Given the description of an element on the screen output the (x, y) to click on. 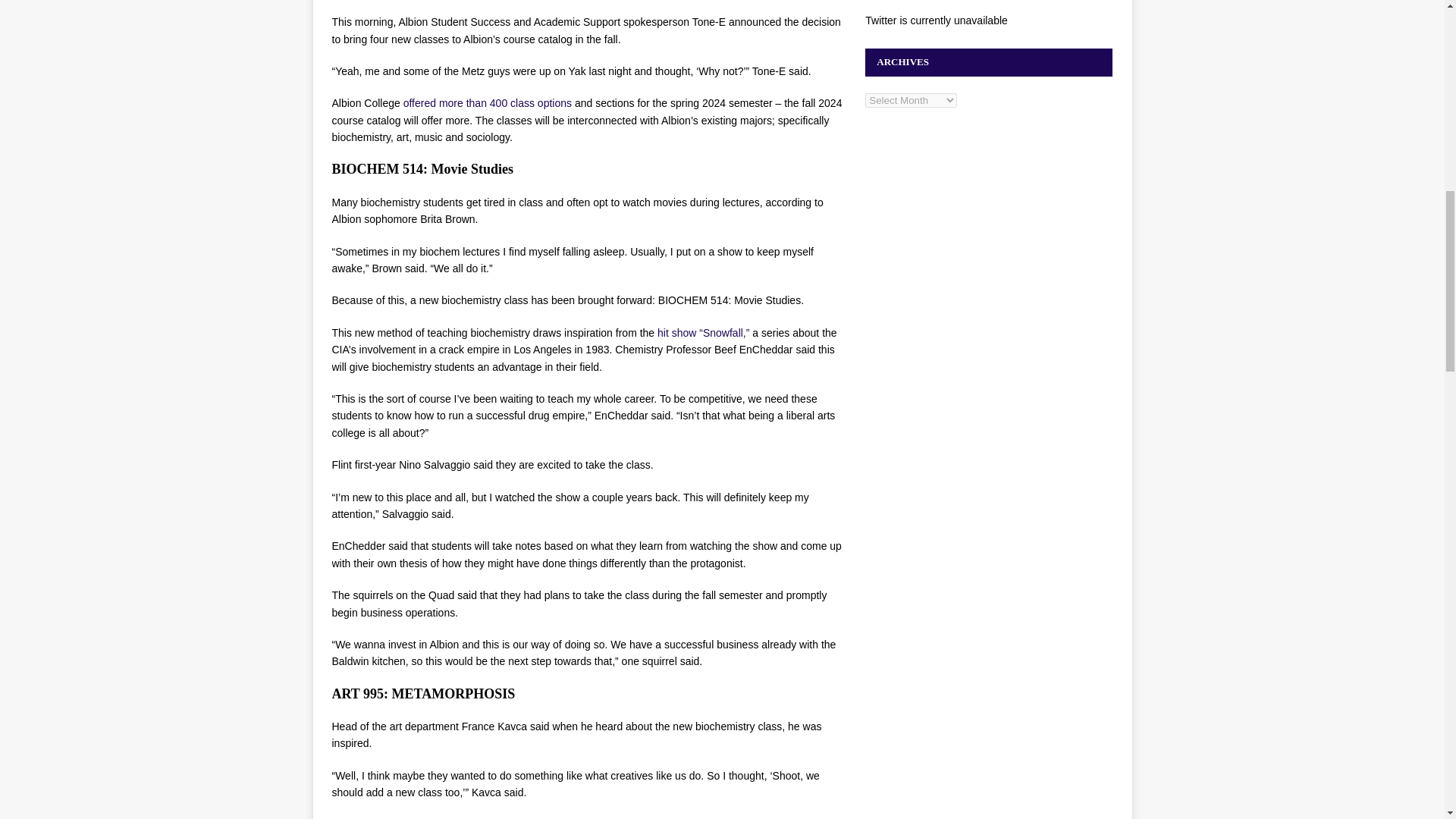
offered more than 400 class options (489, 102)
